Given the description of an element on the screen output the (x, y) to click on. 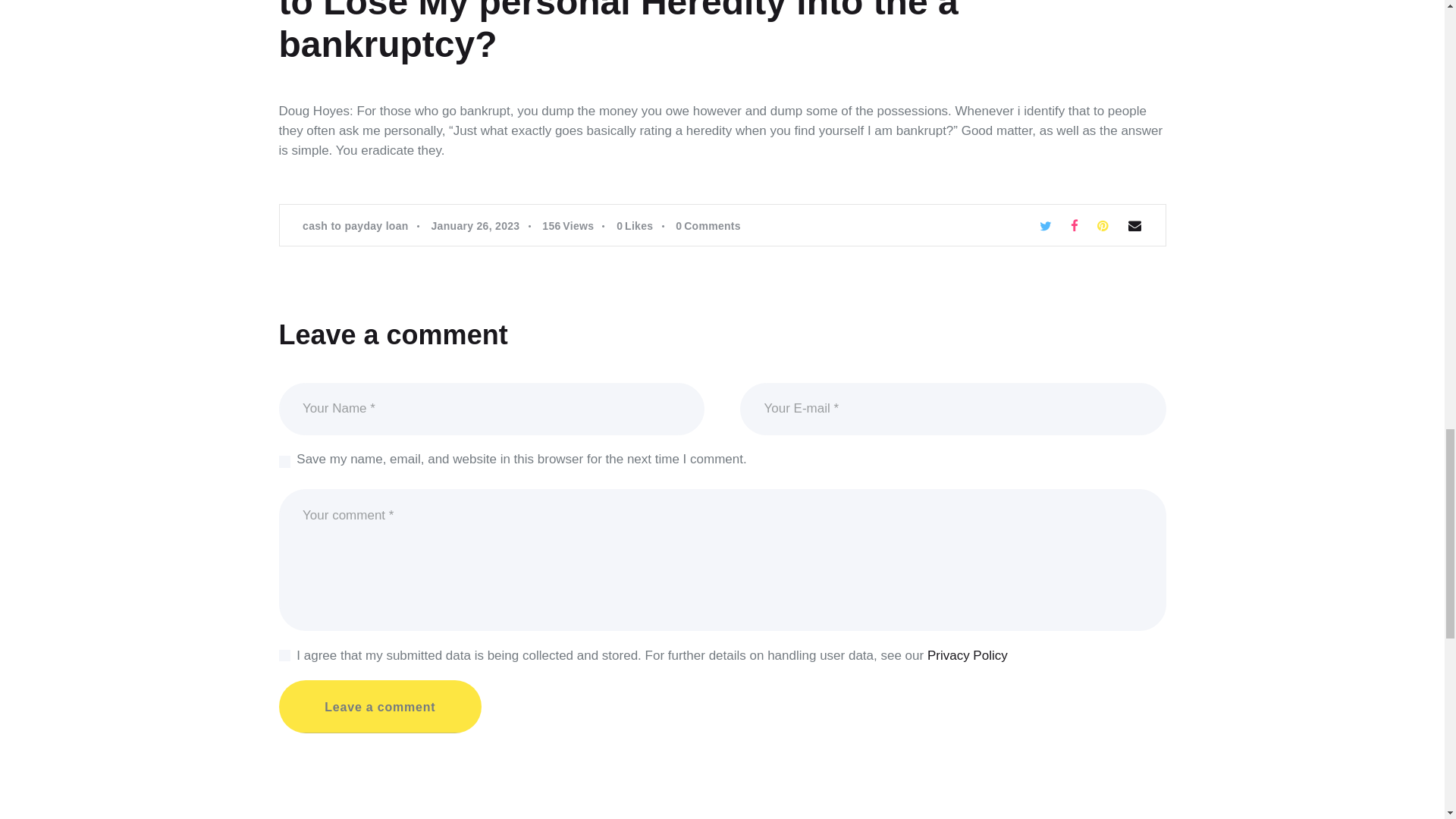
January 26, 2023 (474, 225)
0Likes (643, 225)
156Views (576, 225)
yes (283, 454)
0Comments (708, 225)
cash to payday loan (355, 225)
Leave a comment (380, 706)
Like (643, 225)
1 (286, 651)
